Given the description of an element on the screen output the (x, y) to click on. 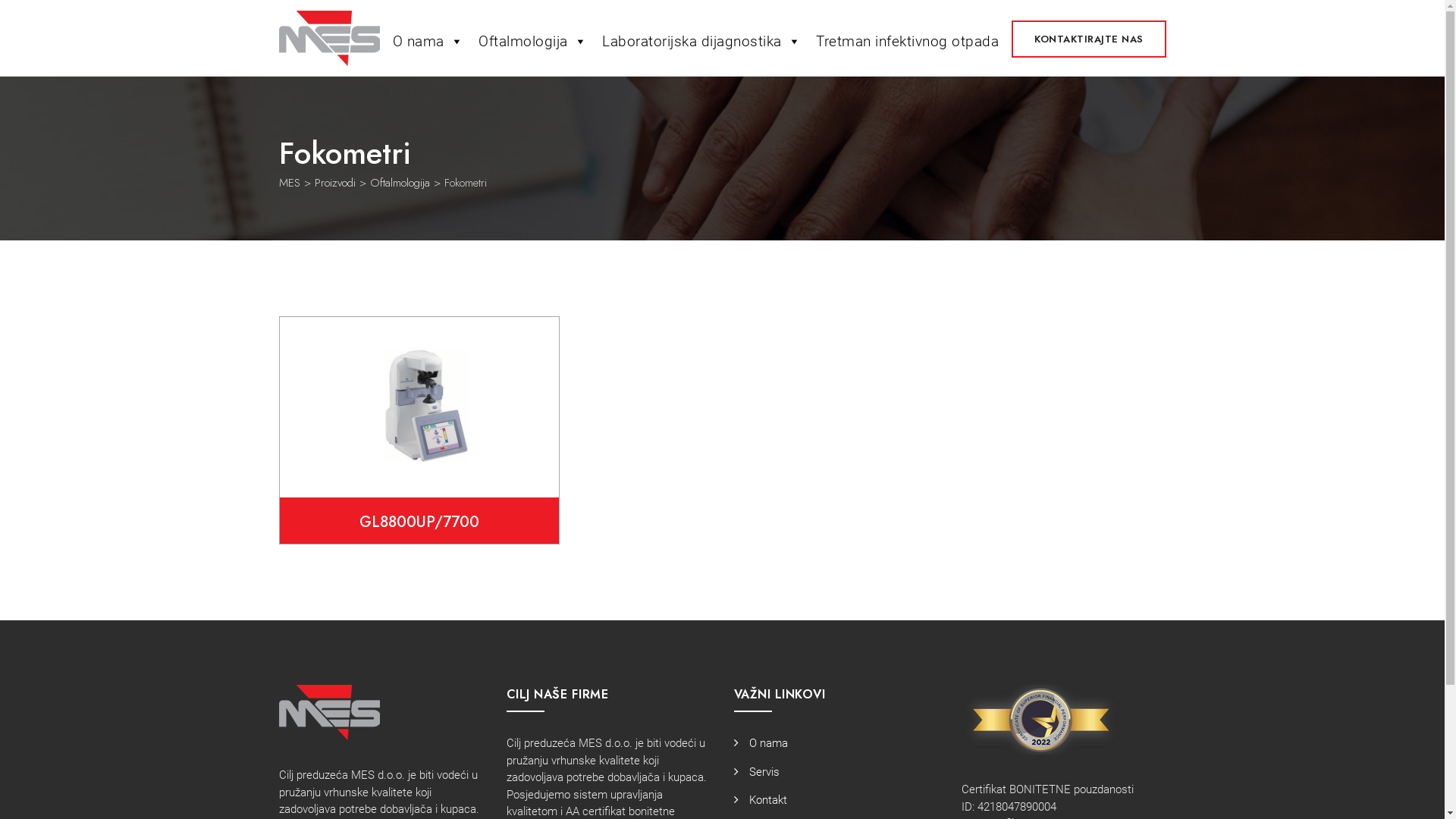
MES Element type: text (289, 182)
O nama Element type: text (760, 742)
GL8800UP/7700 Element type: text (419, 522)
Tretman infektivnog otpada Element type: text (907, 37)
Laboratorijska dijagnostika Element type: text (701, 37)
Oftalmologija Element type: text (399, 182)
Oftalmologija Element type: text (532, 37)
Servis Element type: text (756, 771)
Proizvodi Element type: text (333, 182)
KONTAKTIRAJTE NAS Element type: text (1088, 38)
Kontakt Element type: text (760, 799)
MES Element type: hover (329, 37)
O nama Element type: text (428, 37)
